Given the description of an element on the screen output the (x, y) to click on. 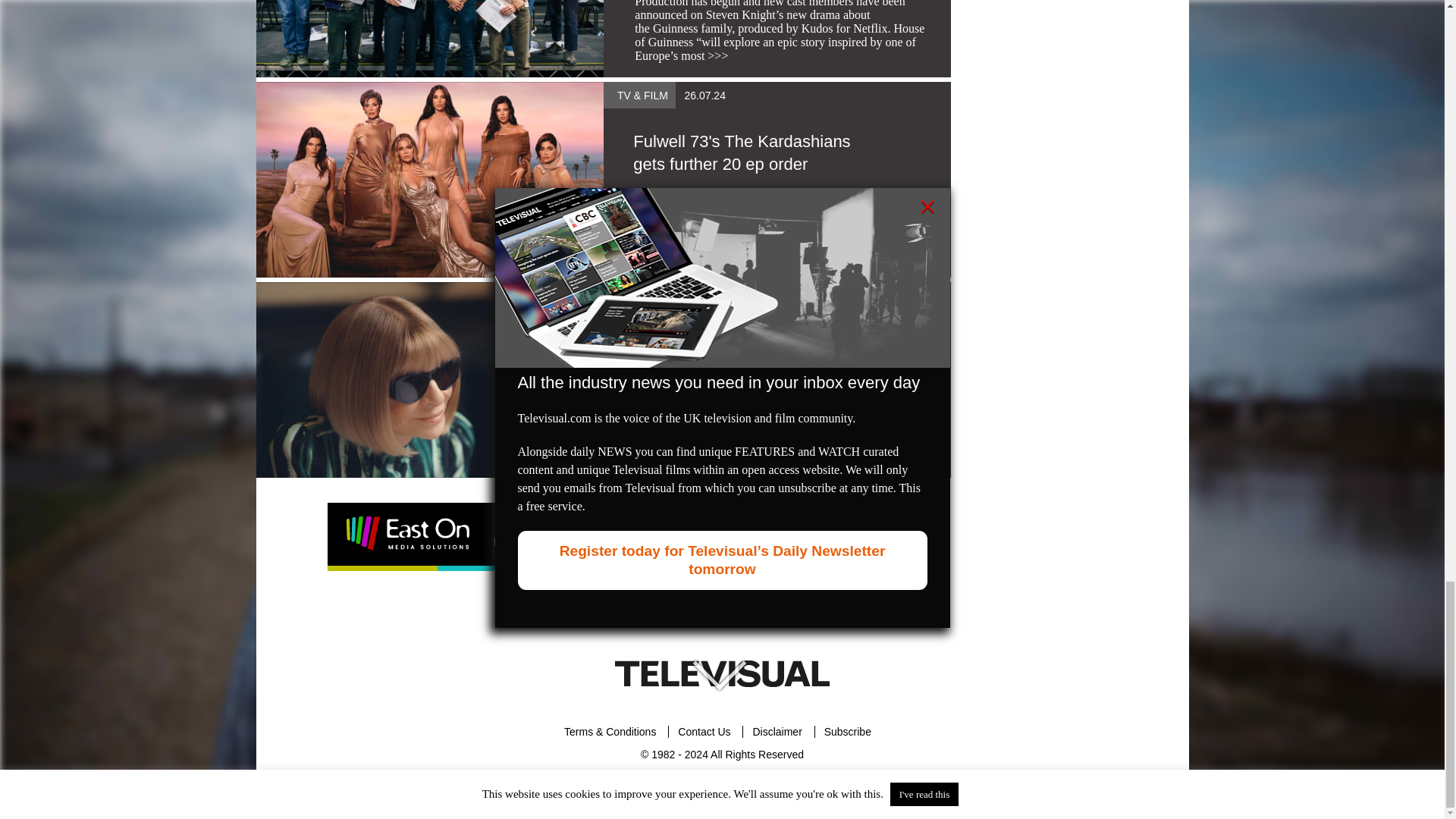
televisual-logo (721, 673)
